Given the description of an element on the screen output the (x, y) to click on. 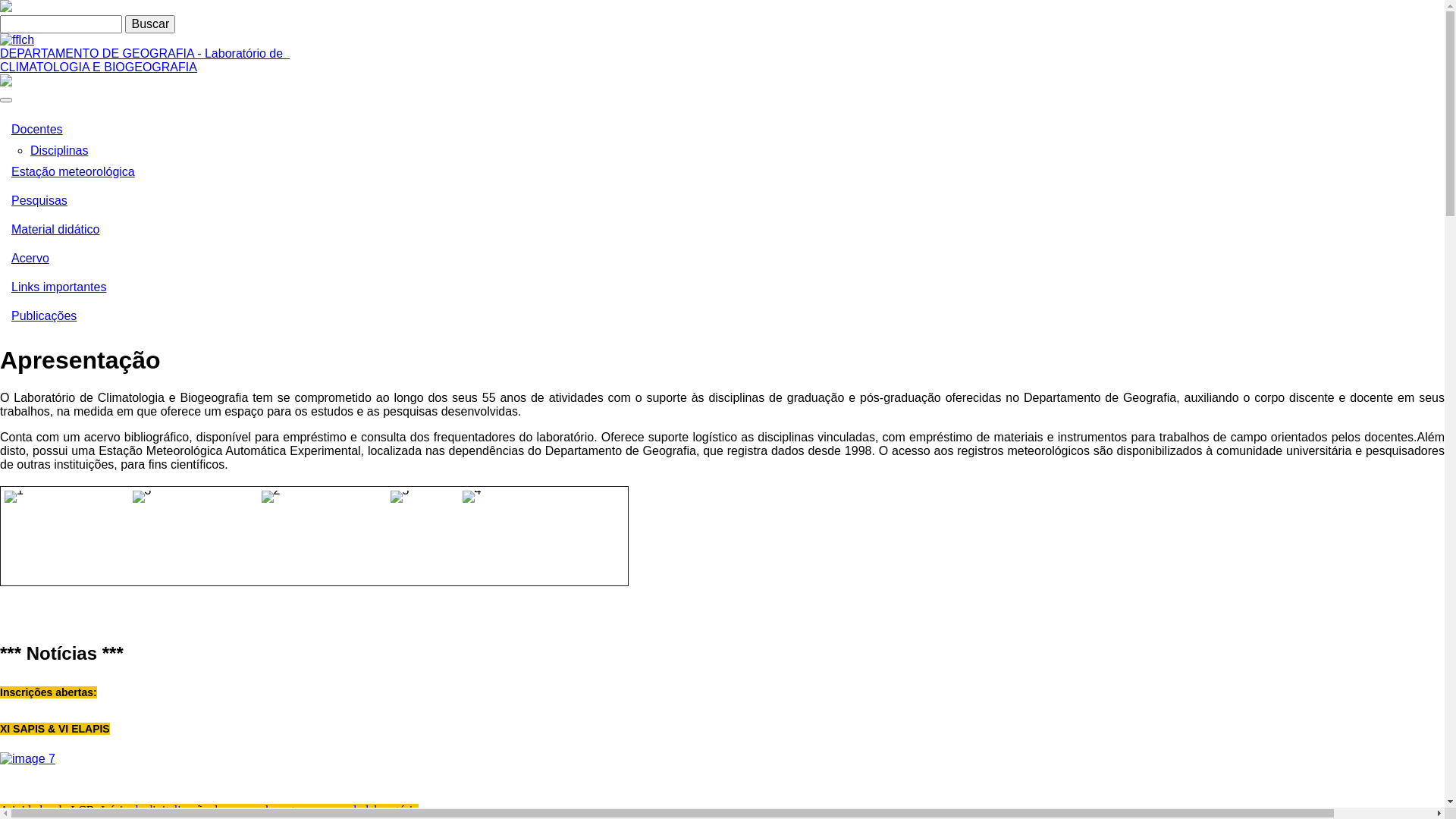
Buscar Element type: text (150, 24)
Acervo Element type: text (722, 258)
Disciplinas Element type: text (58, 150)
CLIMATOLOGIA E BIOGEOGRAFIA Element type: text (98, 66)
Links importantes Element type: text (722, 287)
Pesquisas Element type: text (722, 200)
Docentes Element type: text (722, 129)
SAPIS Element type: hover (27, 758)
